Given the description of an element on the screen output the (x, y) to click on. 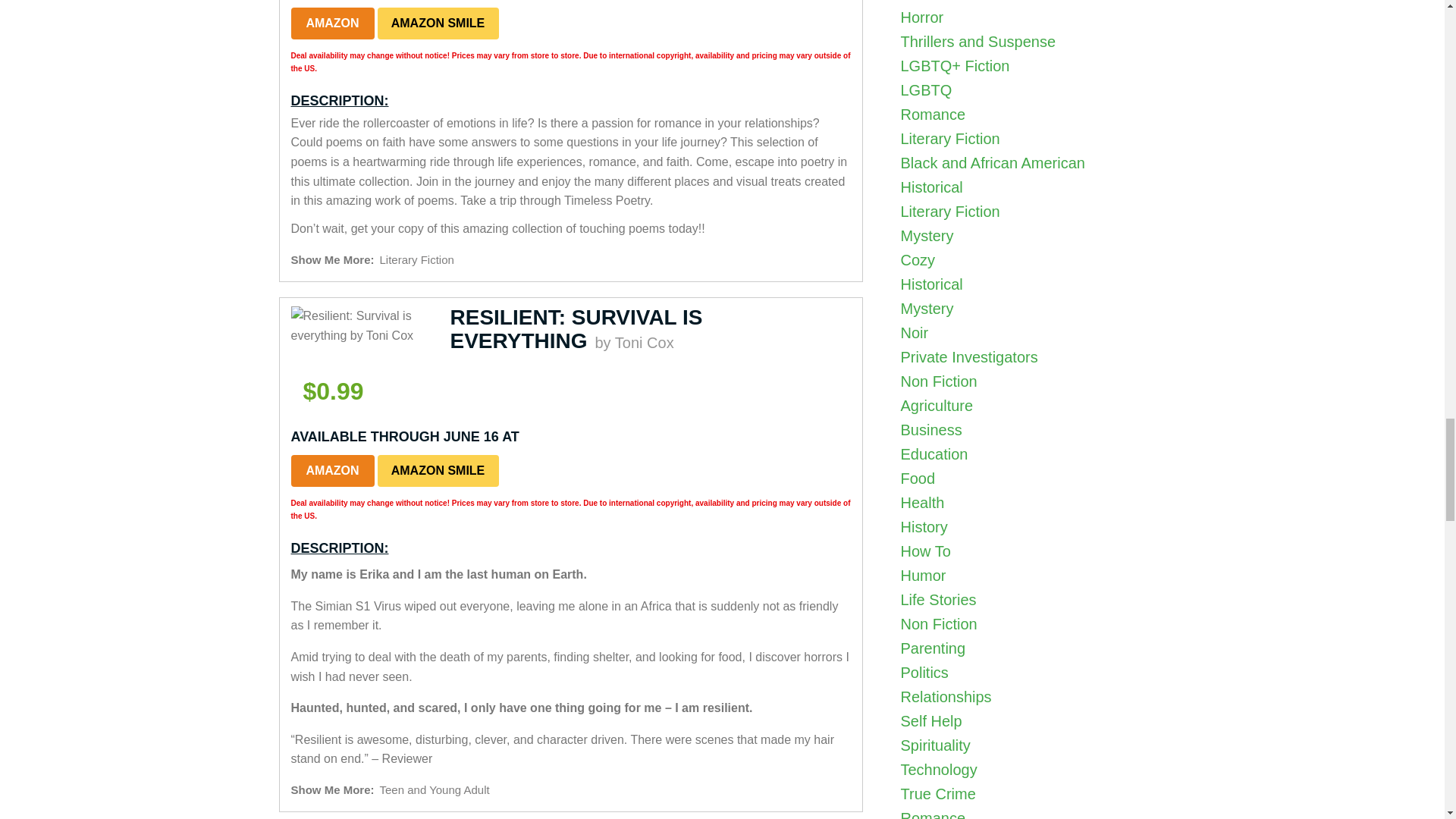
Lang's Return (1008, 197)
Literary Fiction (417, 259)
Advertisement (1033, 487)
AMAZON SMILE (438, 23)
AMAZON SMILE (438, 470)
AMAZON (332, 23)
Teen and Young Adult (434, 789)
AMAZON (332, 470)
